Given the description of an element on the screen output the (x, y) to click on. 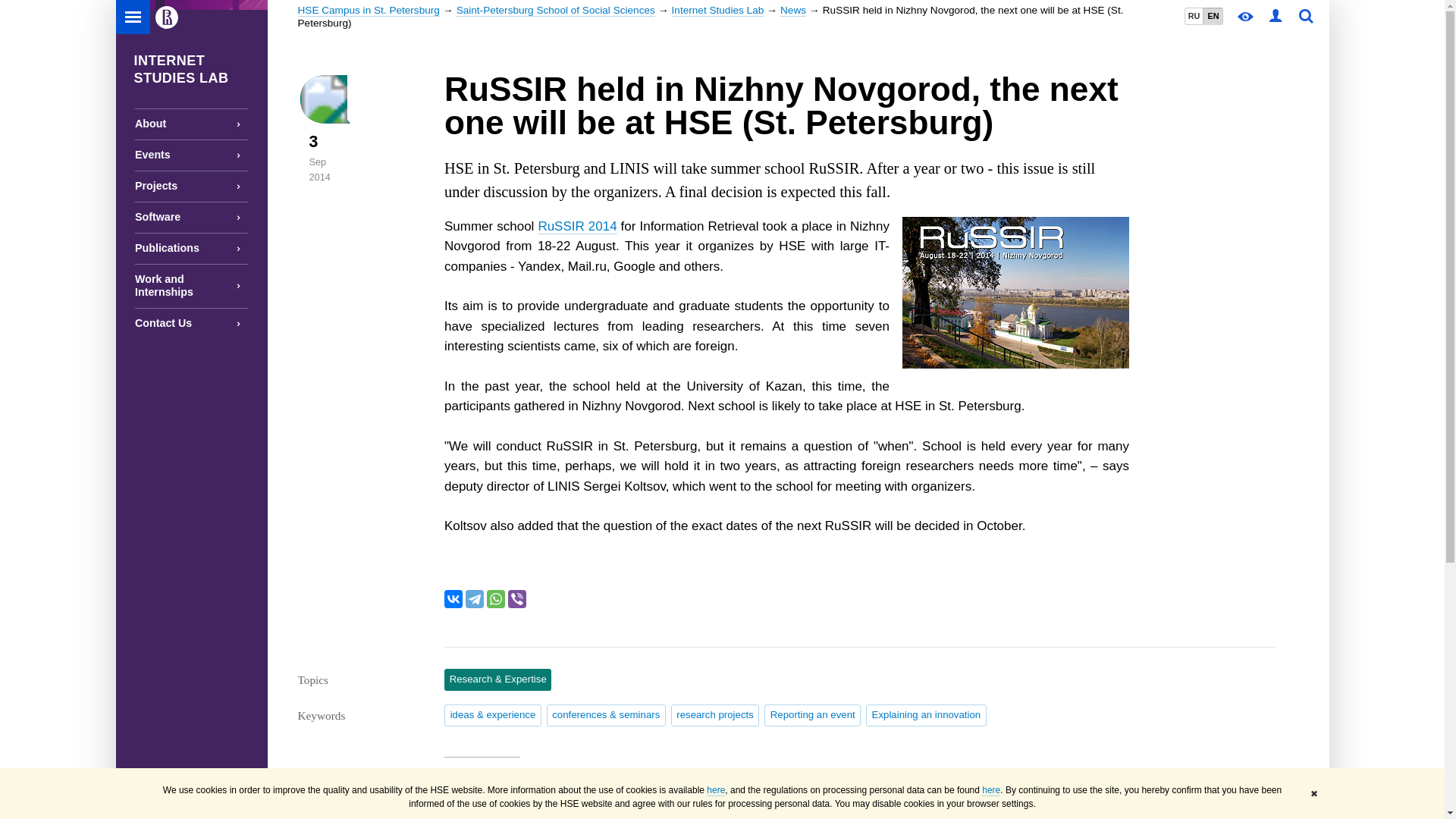
HSE Campus in St. Petersburg (368, 10)
Viber (516, 598)
Saint-Petersburg School of Social Sciences (556, 10)
here (990, 790)
Telegram (474, 598)
INTERNET STUDIES LAB (190, 64)
RU (1194, 16)
Internet Studies Lab (717, 10)
WhatsApp (495, 598)
News (793, 10)
here (715, 790)
VKontakte (453, 598)
